Given the description of an element on the screen output the (x, y) to click on. 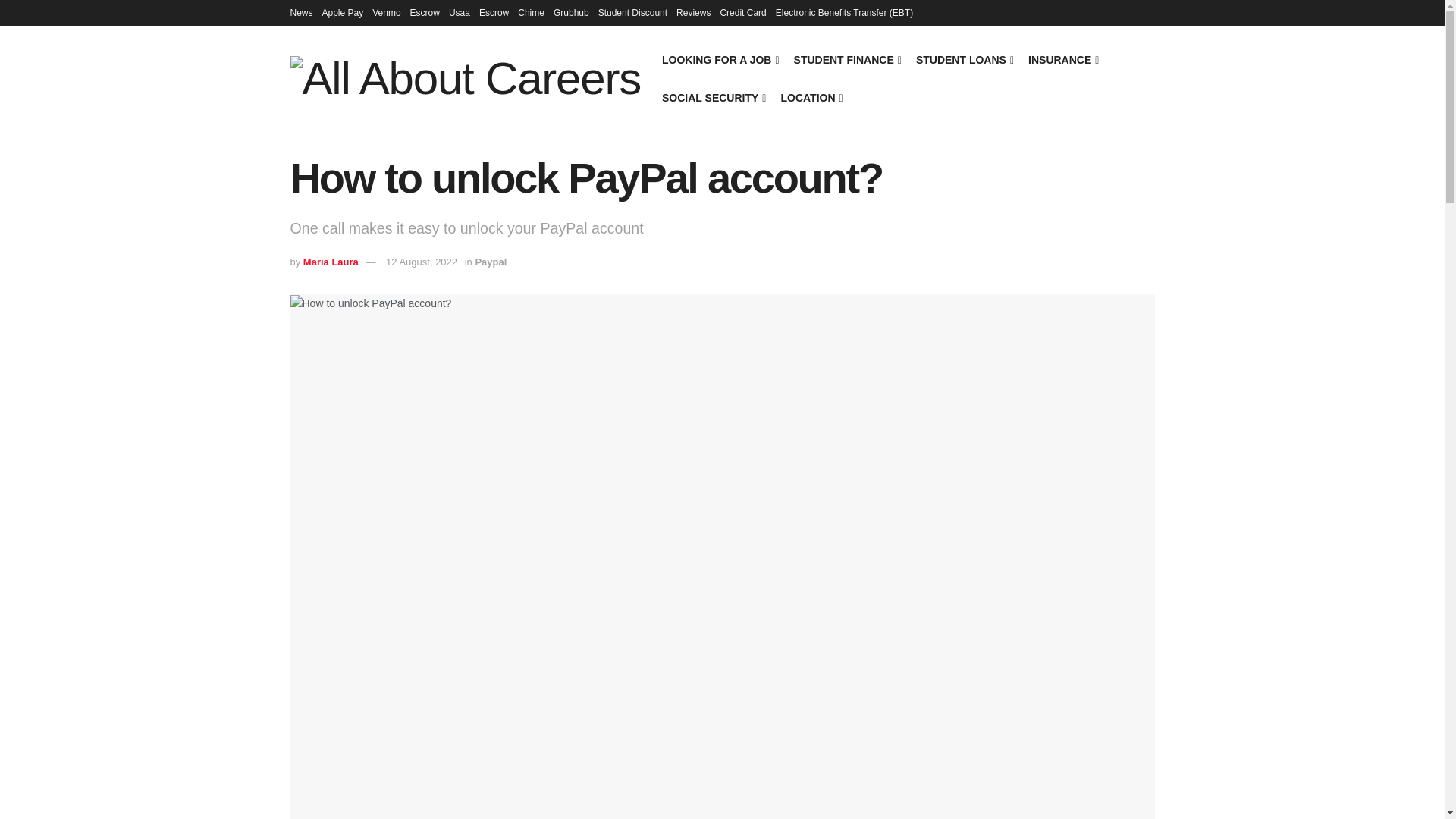
Apple Pay (342, 12)
Escrow (424, 12)
Chime (531, 12)
Reviews (693, 12)
LOOKING FOR A JOB (719, 59)
Grubhub (571, 12)
Credit Card (742, 12)
STUDENT FINANCE (846, 59)
Student Discount (632, 12)
Escrow (493, 12)
Venmo (386, 12)
